Given the description of an element on the screen output the (x, y) to click on. 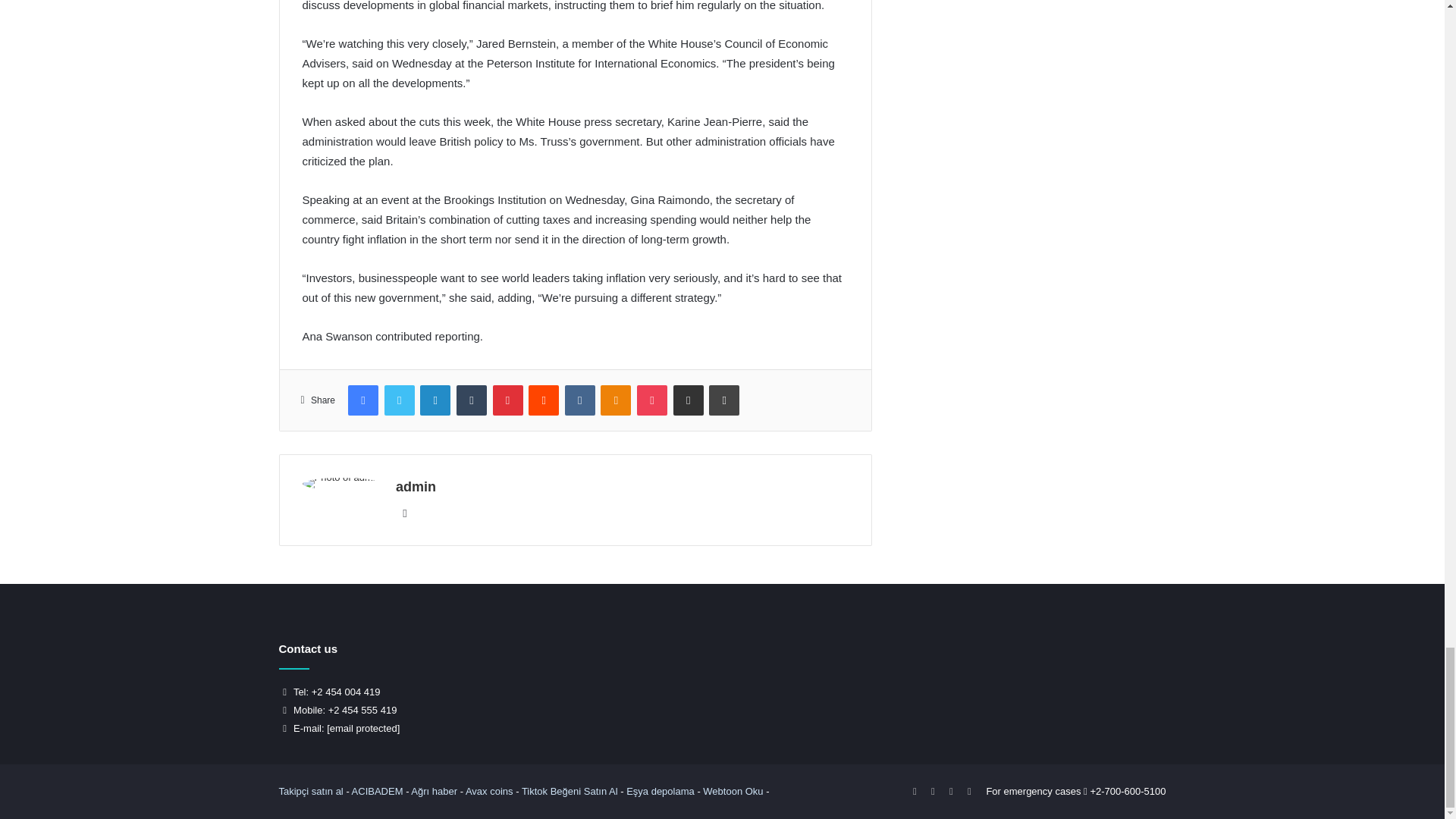
VKontakte (579, 399)
Reddit (543, 399)
Facebook (362, 399)
Tumblr (471, 399)
Twitter (399, 399)
Pinterest (507, 399)
LinkedIn (434, 399)
Odnoklassniki (614, 399)
